Given the description of an element on the screen output the (x, y) to click on. 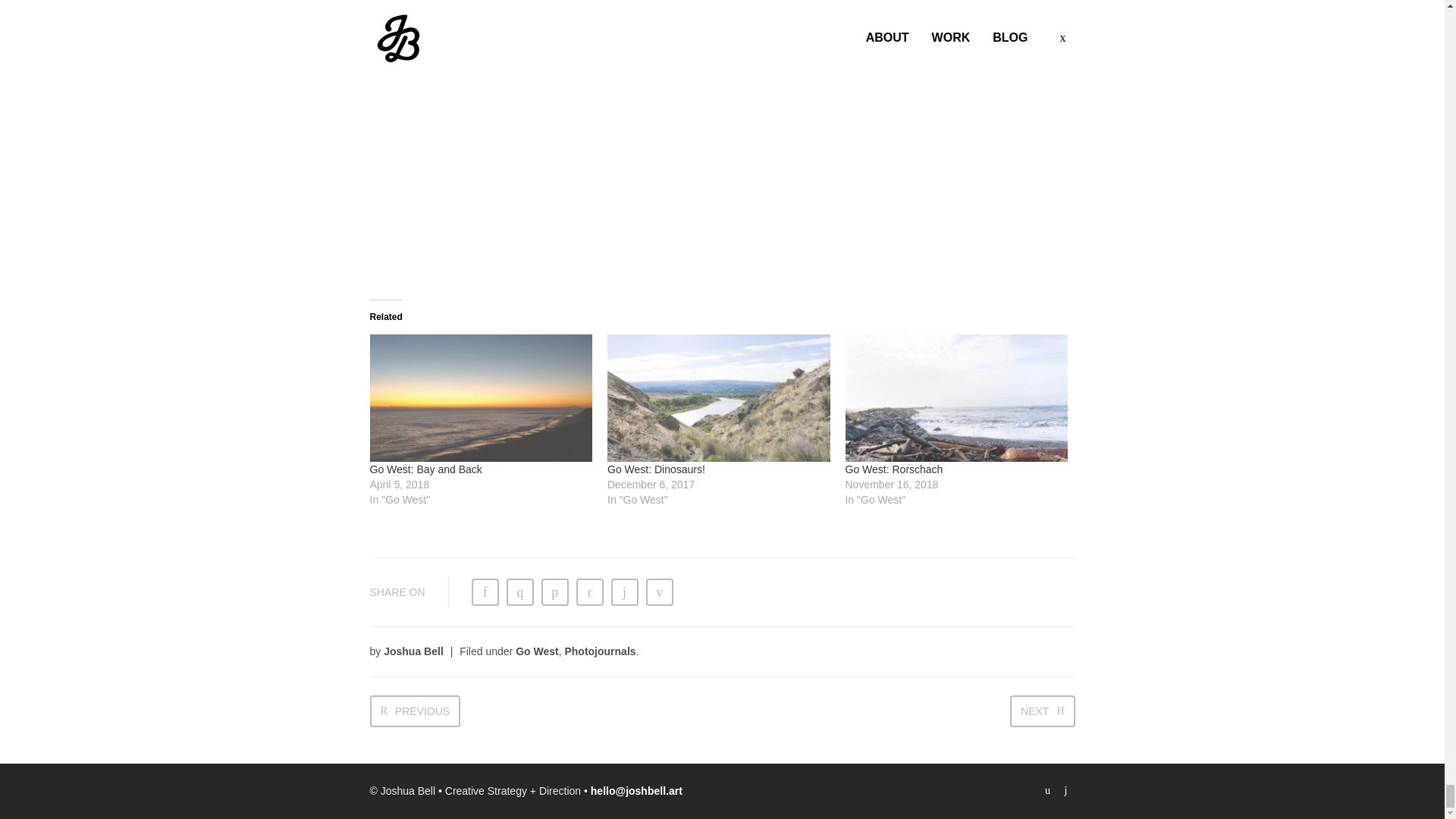
PREVIOUS (415, 711)
Go West: Bay and Back (425, 469)
Photojournals (599, 651)
Go West: Dinosaurs! (655, 469)
Joshua Bell (414, 651)
Go West (537, 651)
NEXT (1042, 711)
Go West: Rorschach (893, 469)
